Given the description of an element on the screen output the (x, y) to click on. 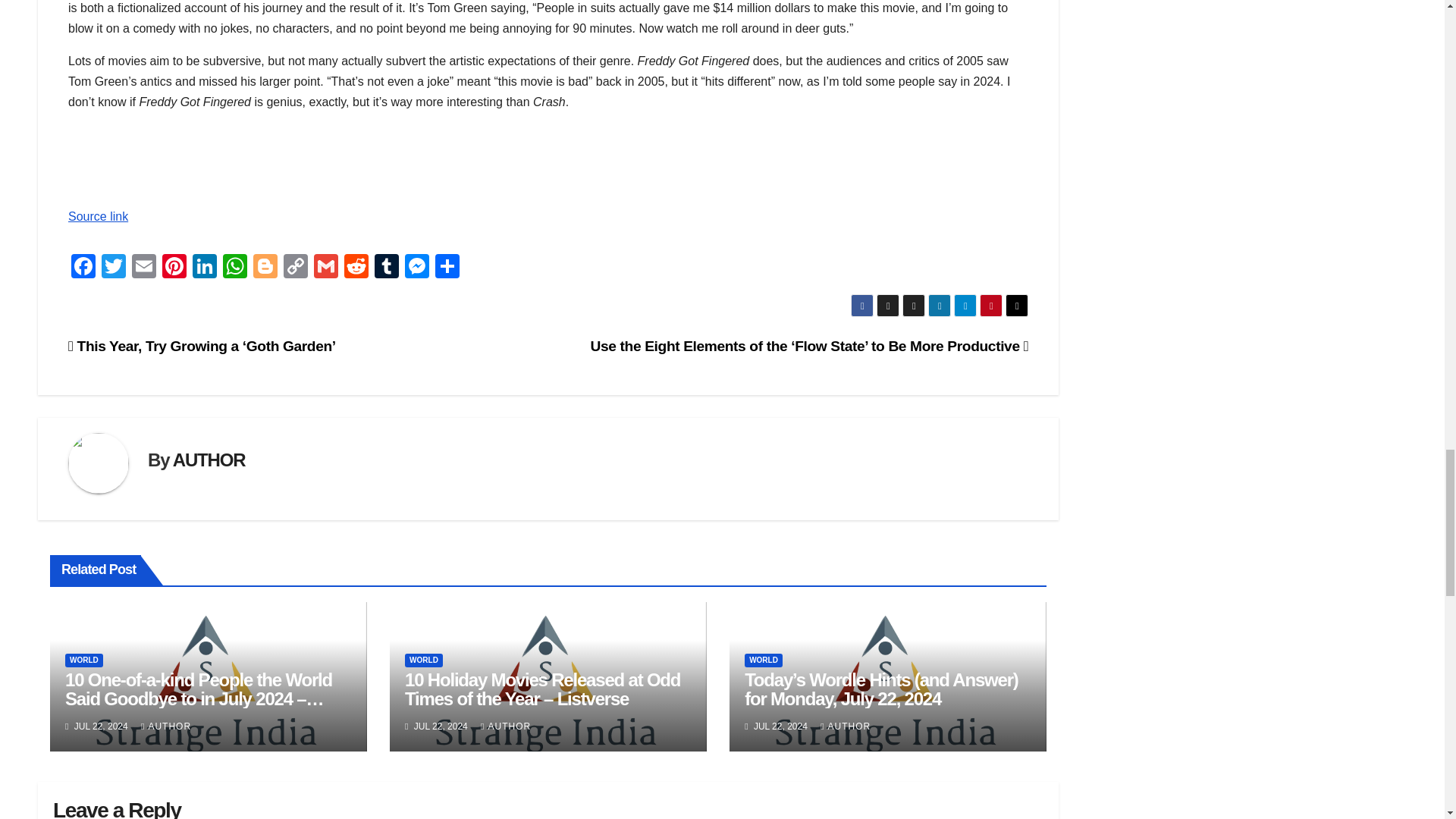
Source link (98, 215)
WhatsApp (234, 267)
Pinterest (173, 267)
Facebook (83, 267)
Copy Link (296, 267)
Email (143, 267)
LinkedIn (204, 267)
Blogger (265, 267)
Twitter (114, 267)
